Given the description of an element on the screen output the (x, y) to click on. 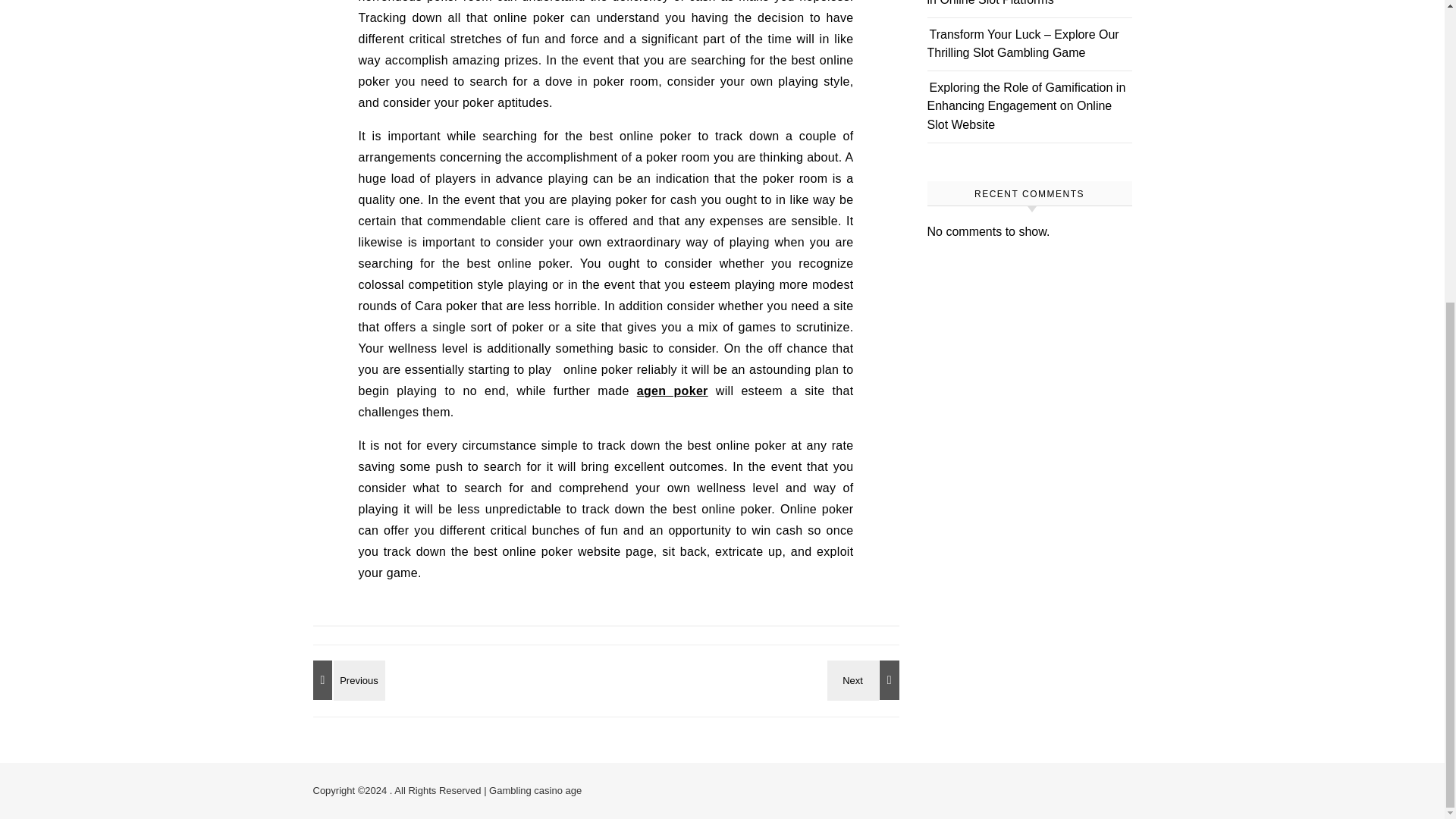
agen poker (672, 390)
Picking a betting club on the web to get the most benefits (346, 680)
The Importance of User Experience in Online Slot Platforms (1023, 2)
